Given the description of an element on the screen output the (x, y) to click on. 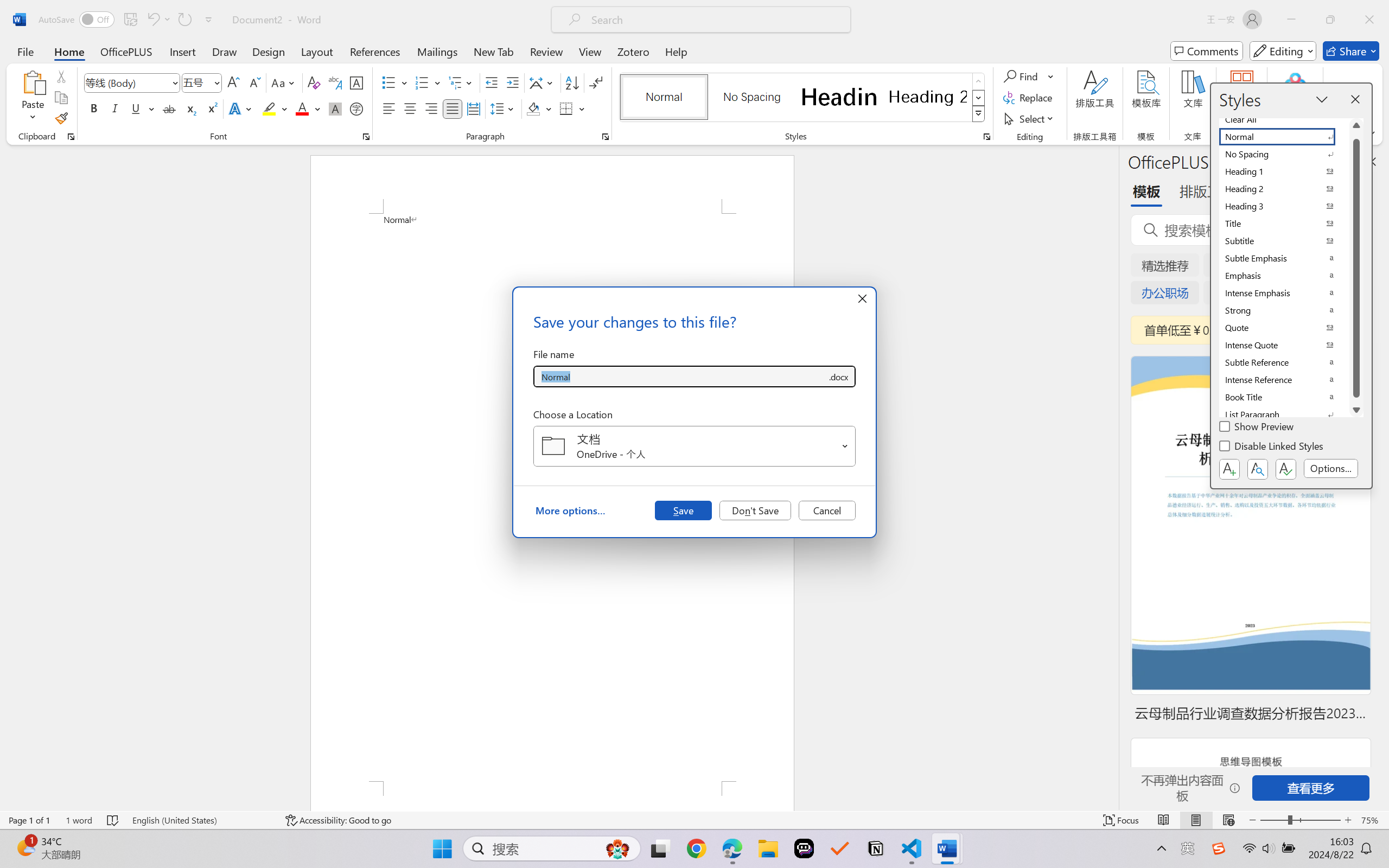
Zoom Out (1273, 819)
Font... (365, 136)
OfficePLUS (126, 51)
Choose a Location (694, 446)
Quick Access Toolbar (127, 19)
Bullets (388, 82)
Google Chrome (696, 848)
Poe (804, 848)
Quote (1283, 327)
Row up (978, 81)
Book Title (1283, 397)
Show Preview (1257, 428)
